Given the description of an element on the screen output the (x, y) to click on. 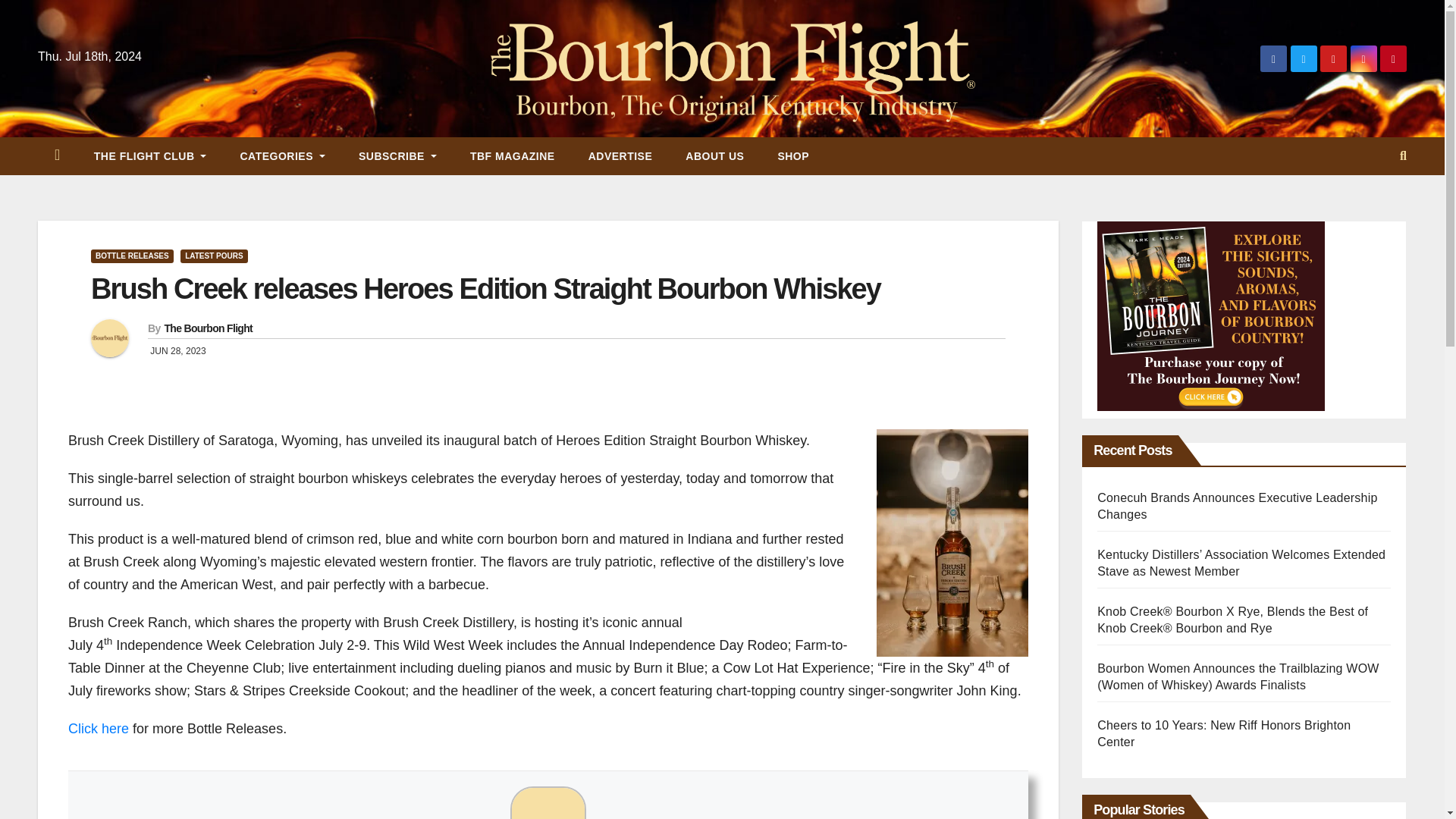
SHOP (792, 156)
ABOUT US (714, 156)
Click here (98, 728)
BOTTLE RELEASES (131, 255)
CATEGORIES (281, 156)
Home (57, 156)
Brush Creek releases Heroes Edition Straight Bourbon Whiskey (485, 288)
The Flight Club (150, 156)
SUBSCRIBE (397, 156)
Categories (281, 156)
LATEST POURS (213, 255)
TBF MAGAZINE (512, 156)
THE FLIGHT CLUB (150, 156)
ADVERTISE (620, 156)
The Bourbon Flight (207, 328)
